Given the description of an element on the screen output the (x, y) to click on. 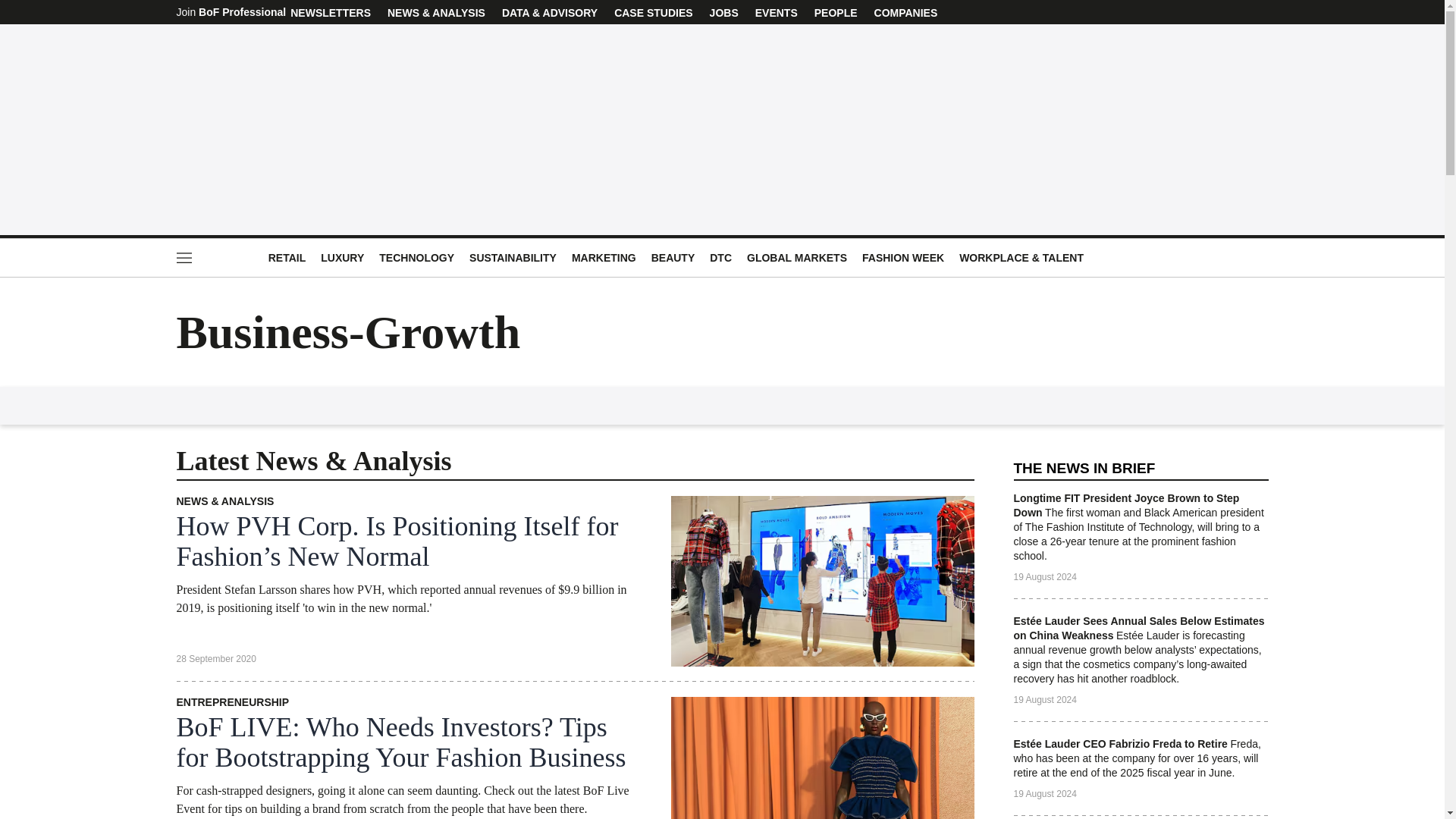
Join BoF Professional (230, 12)
PEOPLE (836, 12)
COMPANIES (906, 12)
EVENTS (775, 12)
JOBS (724, 12)
CASE STUDIES (652, 12)
NEWSLETTERS (330, 12)
